Given the description of an element on the screen output the (x, y) to click on. 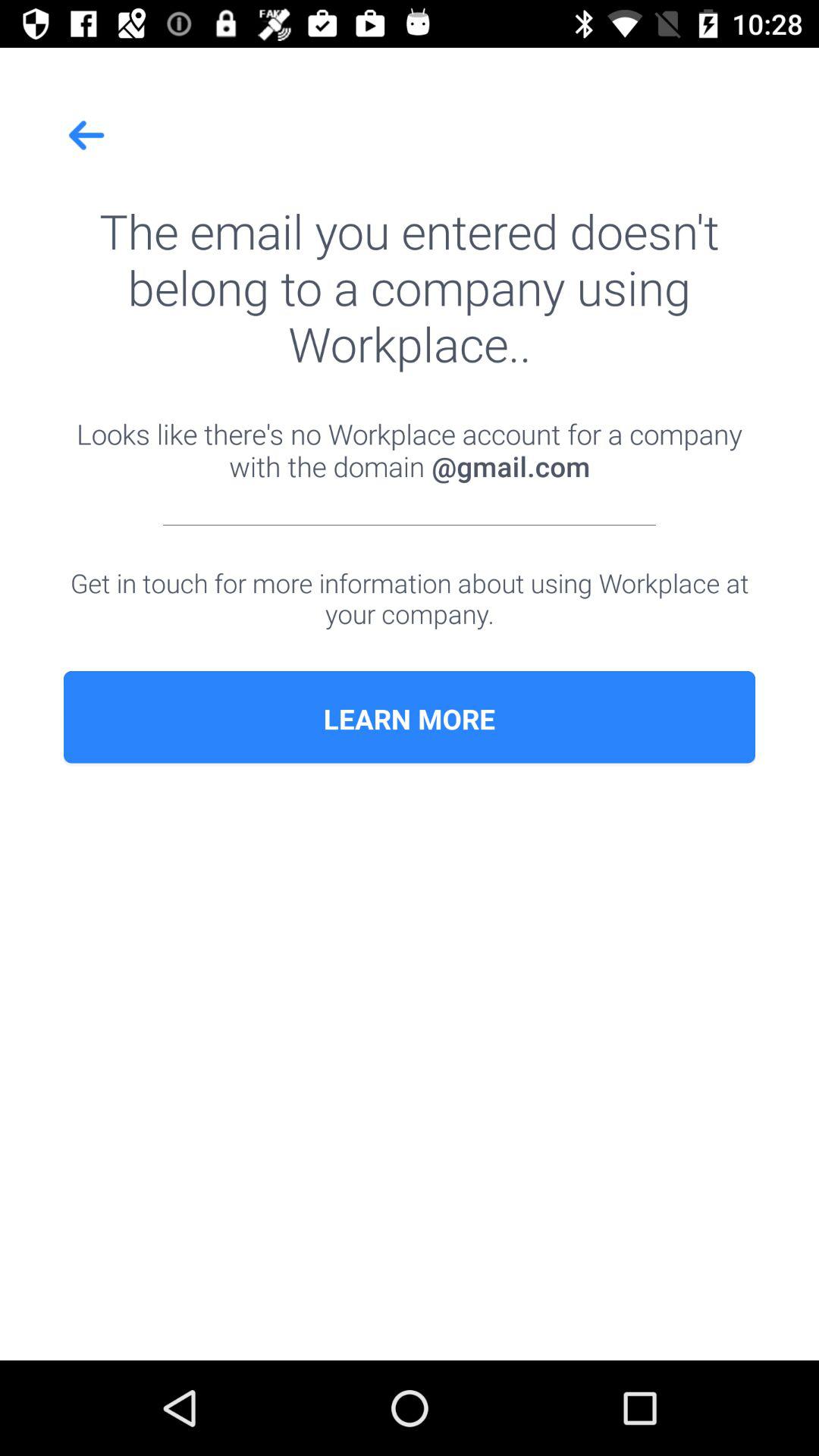
flip to learn more (409, 718)
